Given the description of an element on the screen output the (x, y) to click on. 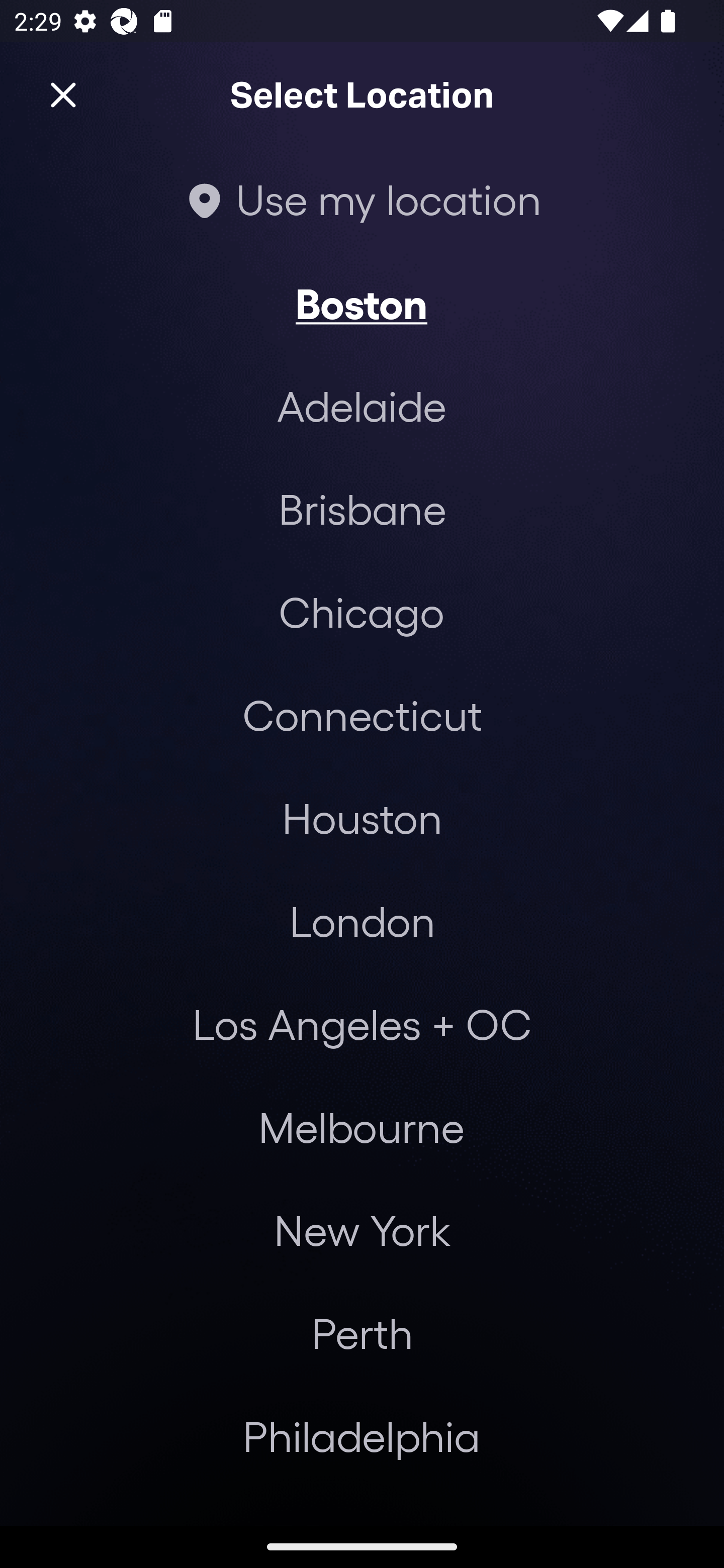
Close (62, 95)
   Use my location (362, 198)
Boston (361, 302)
Adelaide (361, 405)
Brisbane (361, 508)
Chicago (361, 611)
Connecticut (361, 714)
Houston (361, 817)
London (361, 920)
Los Angeles + OC (361, 1023)
Melbourne (361, 1127)
New York (361, 1230)
Perth (361, 1332)
Philadelphia (361, 1436)
